Given the description of an element on the screen output the (x, y) to click on. 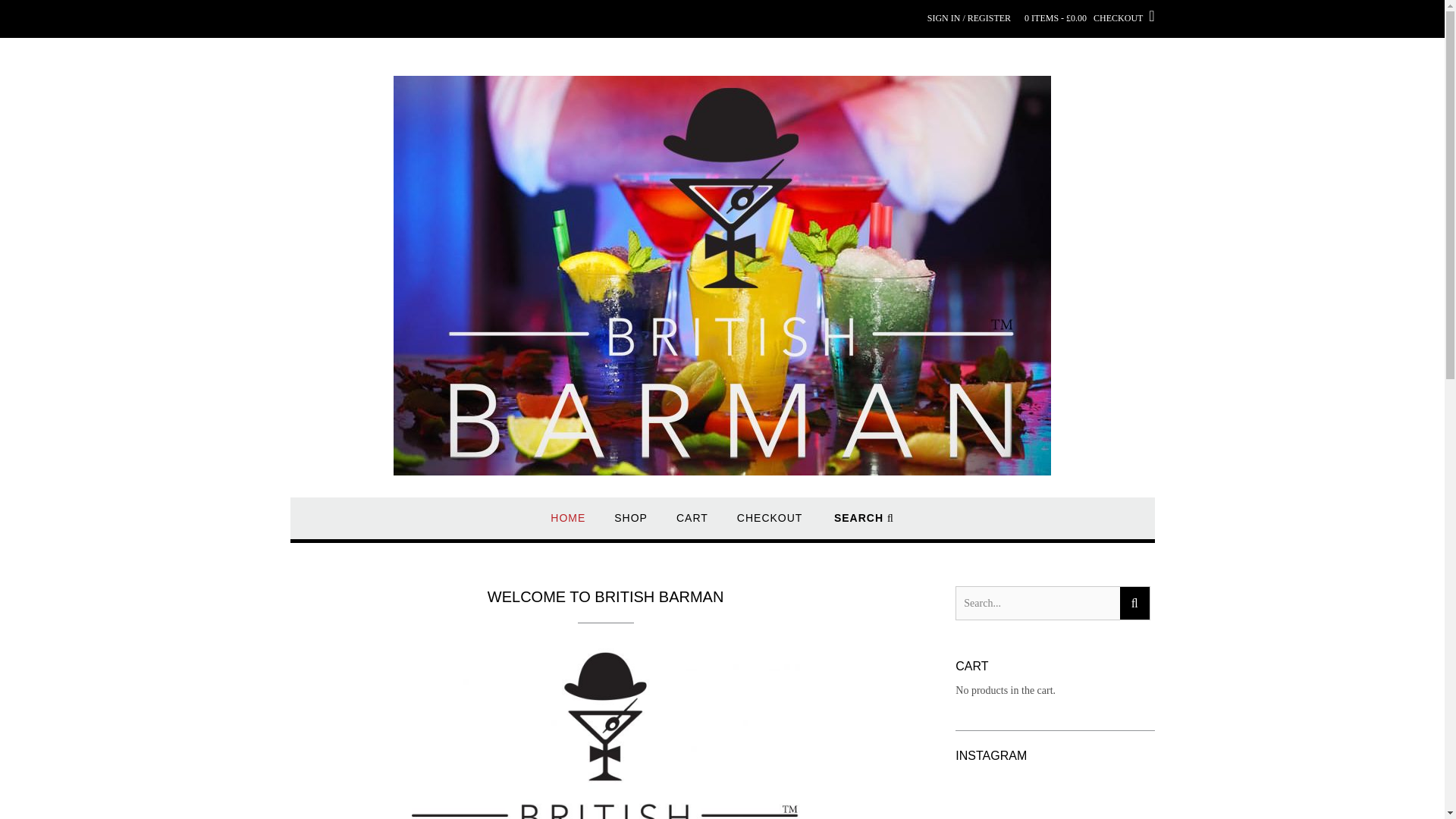
HOME (567, 524)
View your shopping cart (1089, 11)
Search for: (1037, 602)
CHECKOUT (769, 524)
SHOP (630, 524)
Login (968, 11)
SEARCH (863, 524)
CART (692, 524)
